Given the description of an element on the screen output the (x, y) to click on. 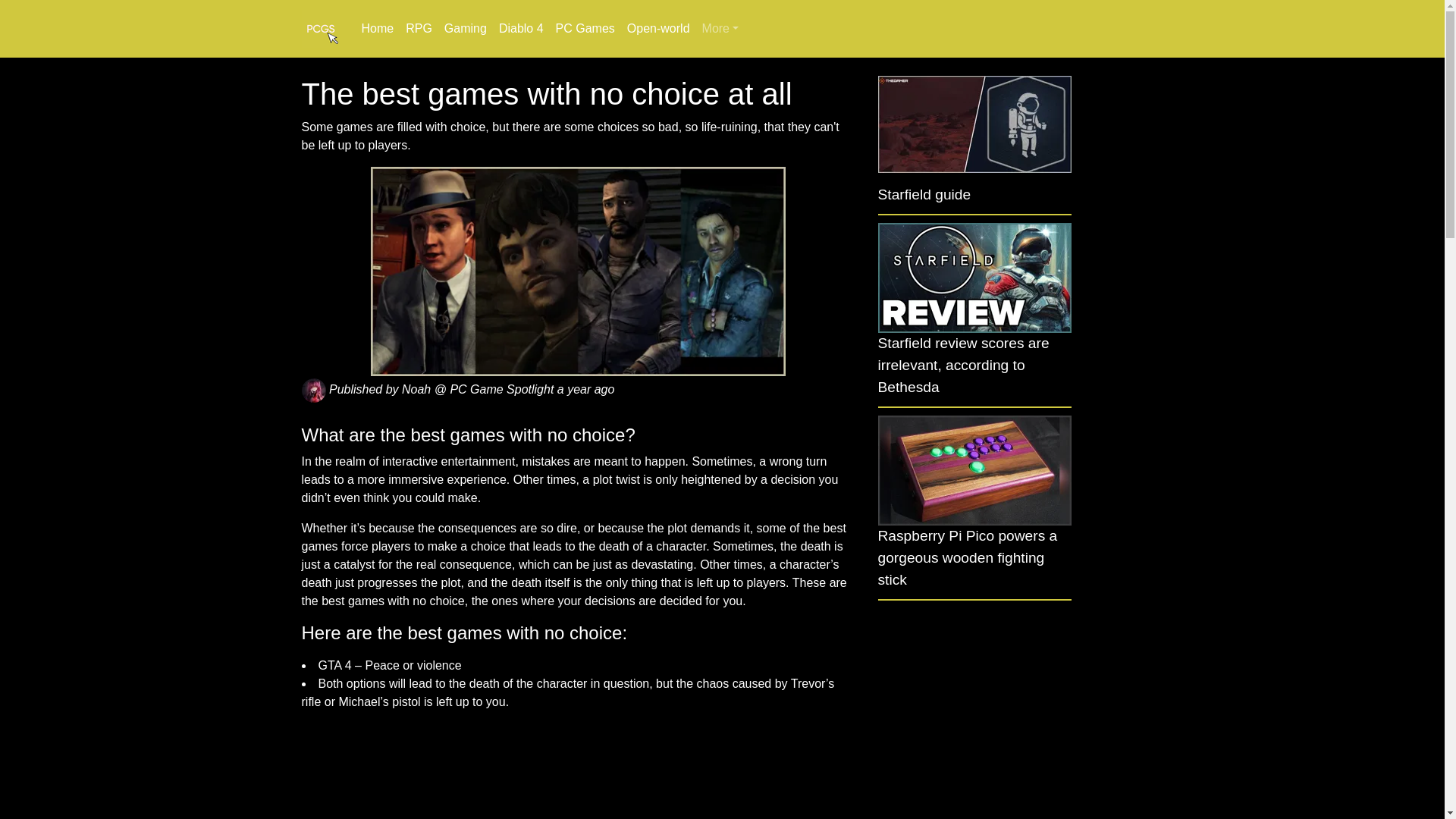
Home (376, 28)
Starfield guide (924, 195)
More (720, 28)
Raspberry Pi Pico powers a gorgeous wooden fighting stick (967, 558)
Advertisement (974, 717)
PC Games News (585, 28)
RPG (418, 28)
Gaming News (465, 28)
Diablo 4 News (521, 28)
YouTube video player (578, 769)
Open-world (658, 28)
RPG News (418, 28)
Diablo 4 (521, 28)
More (720, 28)
The best games with no choice at all (578, 271)
